Given the description of an element on the screen output the (x, y) to click on. 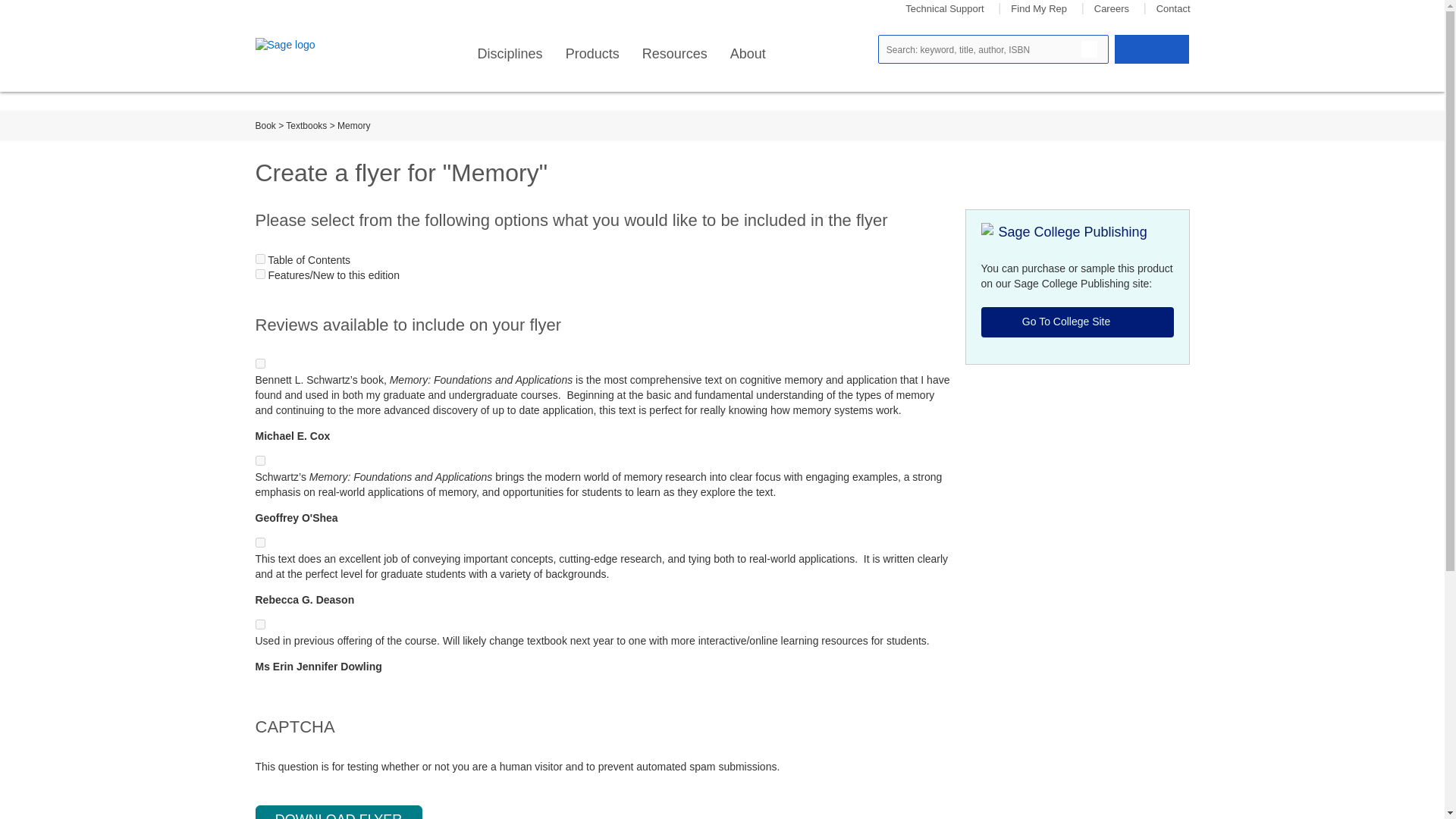
1567396 (259, 542)
1567394 (259, 363)
1 (259, 274)
Download flyer (338, 812)
1 (259, 258)
Contact (1173, 8)
Careers (1111, 8)
1567395 (259, 460)
Technical Support (944, 8)
Disciplines (509, 53)
Find My Rep (1038, 8)
Search (1089, 48)
1629673 (259, 624)
Sage logo: link back to homepage (309, 45)
